Given the description of an element on the screen output the (x, y) to click on. 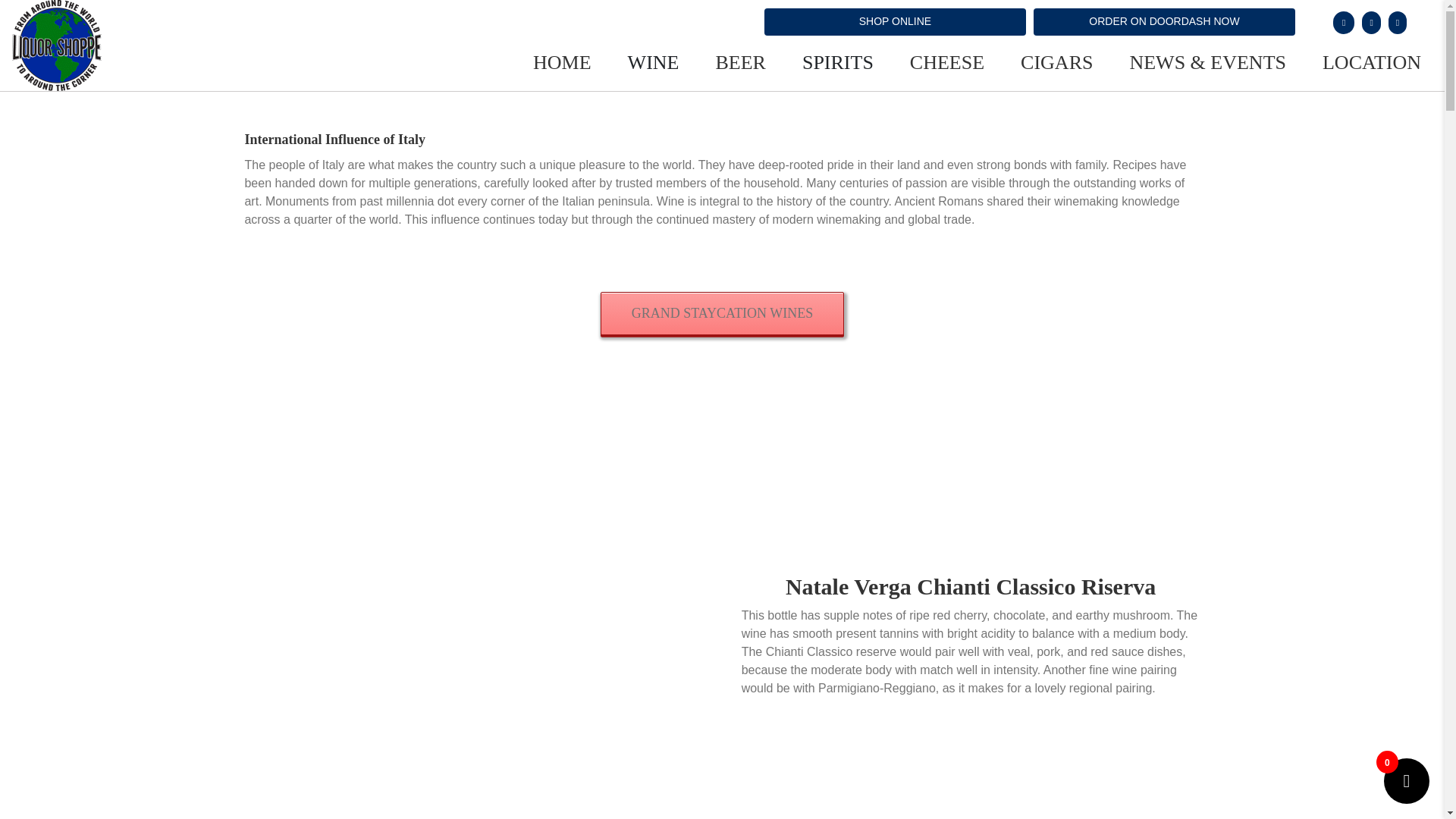
LOCATION (1353, 61)
CHEESE (928, 61)
BEER (721, 61)
SPIRITS (819, 61)
ORDER ON DOORDASH NOW (1164, 21)
CIGARS (1038, 61)
WINE (635, 61)
SHOP ONLINE (895, 21)
